Given the description of an element on the screen output the (x, y) to click on. 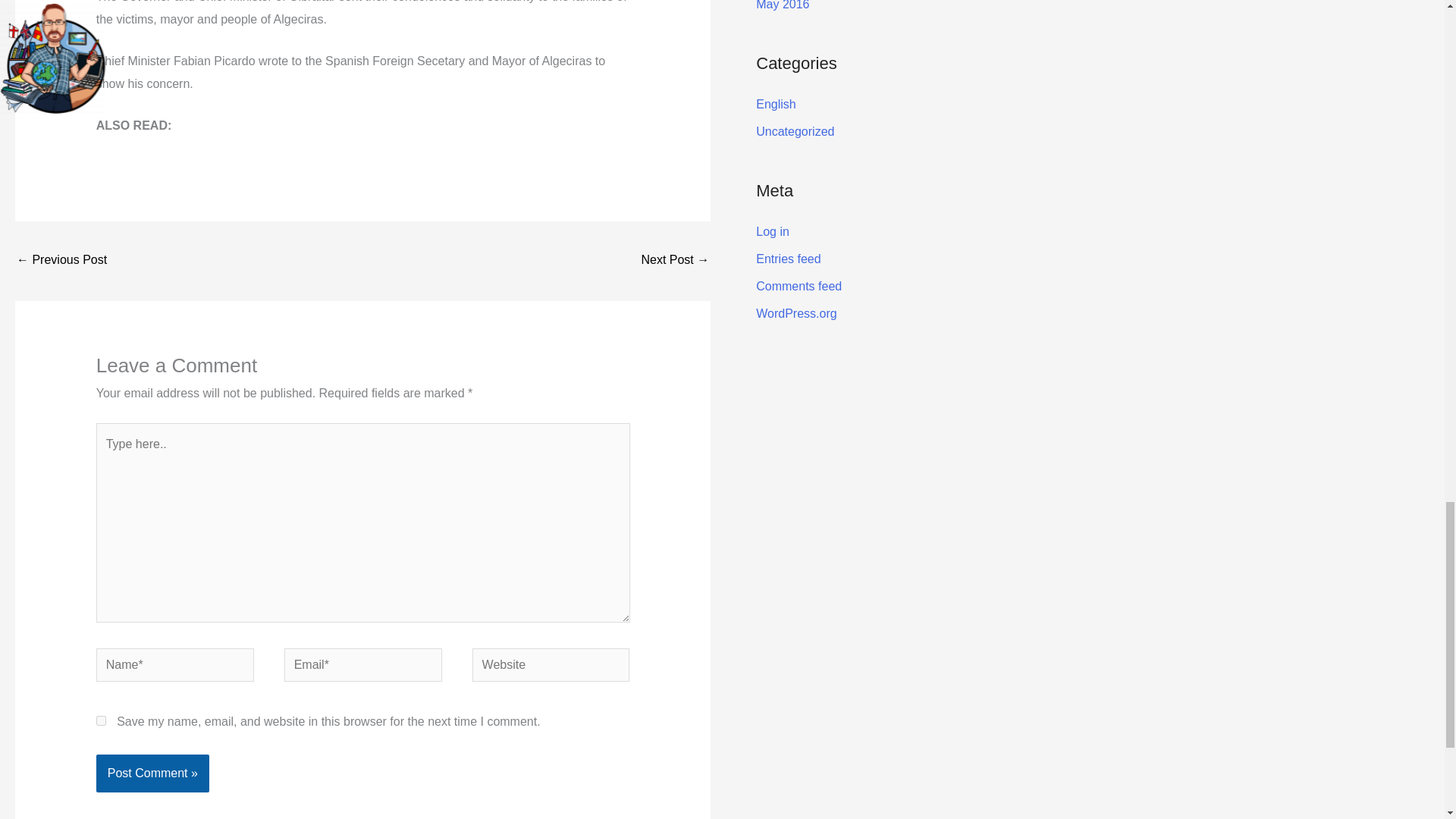
yes (101, 720)
